Given the description of an element on the screen output the (x, y) to click on. 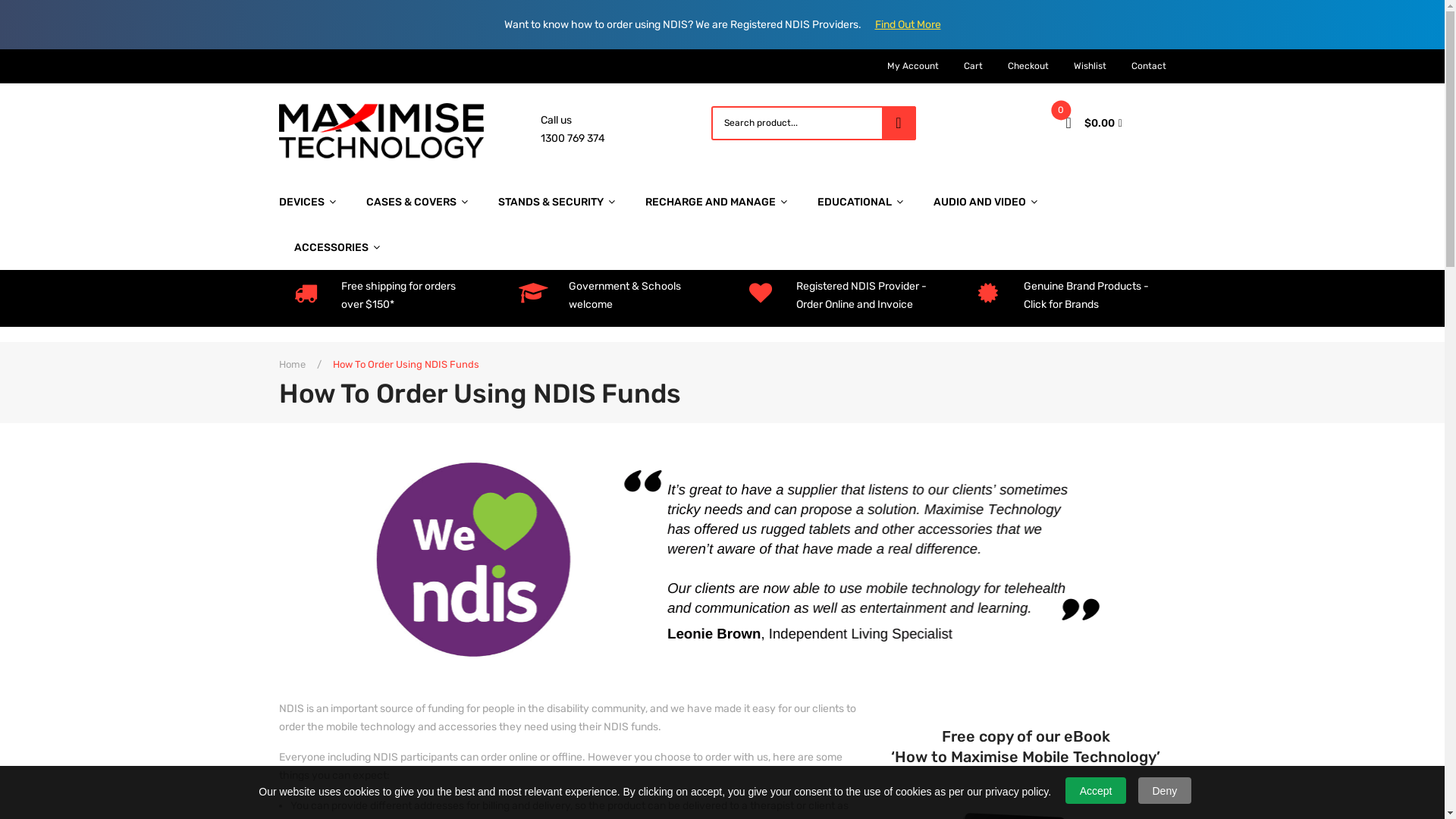
Checkout Element type: text (1027, 65)
1300 769 374 Element type: text (571, 137)
Contact Element type: text (1148, 65)
DEVICES Element type: text (315, 201)
Home Element type: text (292, 364)
Genuine Brand Products - Click for Brands Element type: text (1085, 294)
0
$0.00 Element type: text (1111, 122)
Cart Element type: text (972, 65)
Government & Schools welcome Element type: text (624, 294)
Registered NDIS Provider - Order Online and Invoice Element type: text (861, 294)
RECHARGE AND MANAGE Element type: text (715, 201)
EDUCATIONAL Element type: text (860, 201)
CASES & COVERS Element type: text (416, 201)
Find Out More Element type: text (908, 24)
Wishlist Element type: text (1089, 65)
STANDS & SECURITY Element type: text (555, 201)
Search Element type: text (898, 123)
ACCESSORIES Element type: text (337, 246)
My Account Element type: text (912, 65)
AUDIO AND VIDEO Element type: text (984, 201)
